Given the description of an element on the screen output the (x, y) to click on. 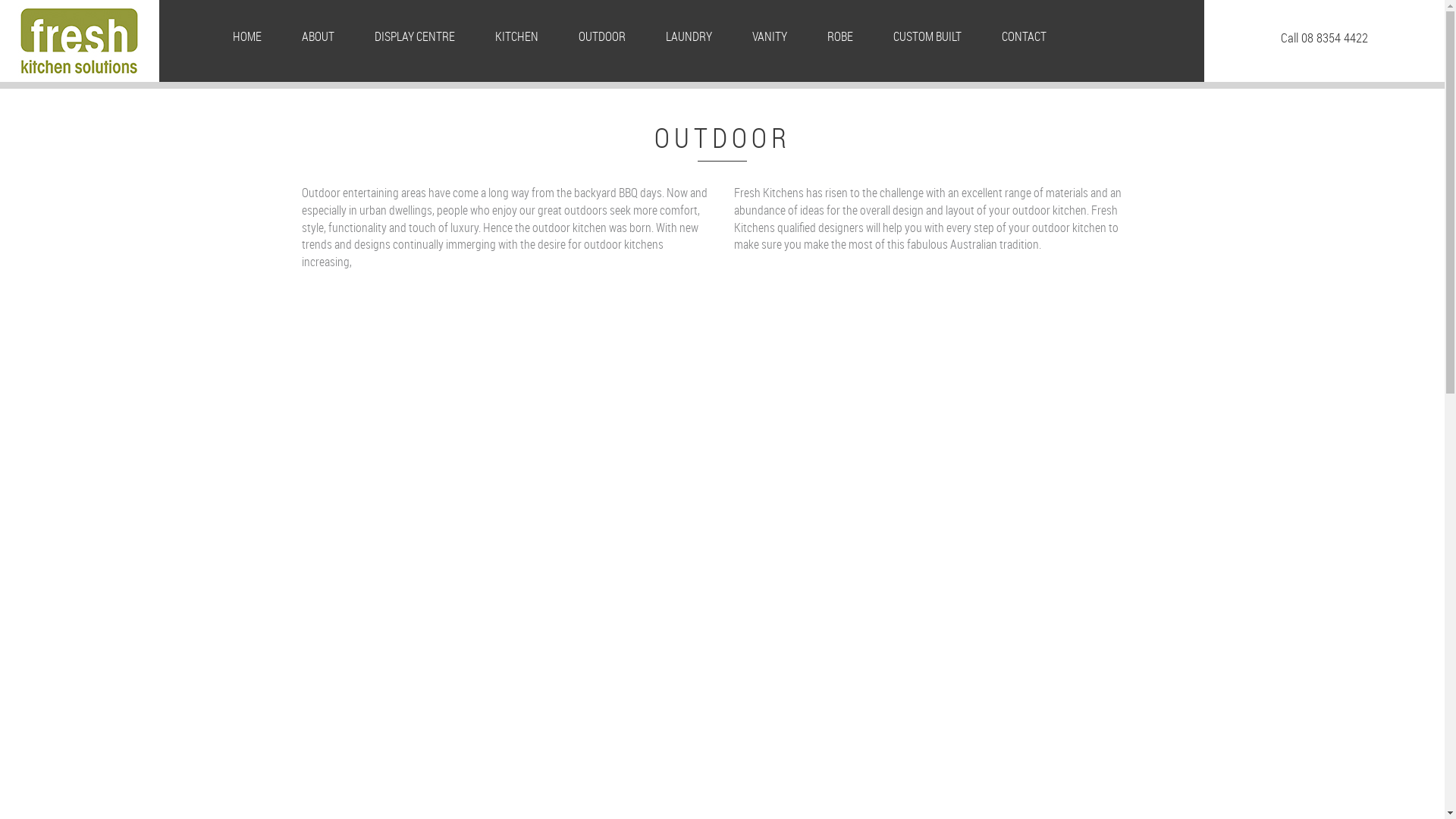
DISPLAY CENTRE Element type: text (414, 36)
KITCHEN Element type: text (516, 36)
HOME Element type: text (247, 36)
ROBE Element type: text (839, 36)
OUTDOOR Element type: text (602, 36)
CUSTOM BUILT Element type: text (926, 36)
CONTACT Element type: text (1023, 36)
Call 08 8354 4422 Element type: text (1324, 37)
VANITY Element type: text (769, 36)
ABOUT Element type: text (317, 36)
LAUNDRY Element type: text (688, 36)
